Given the description of an element on the screen output the (x, y) to click on. 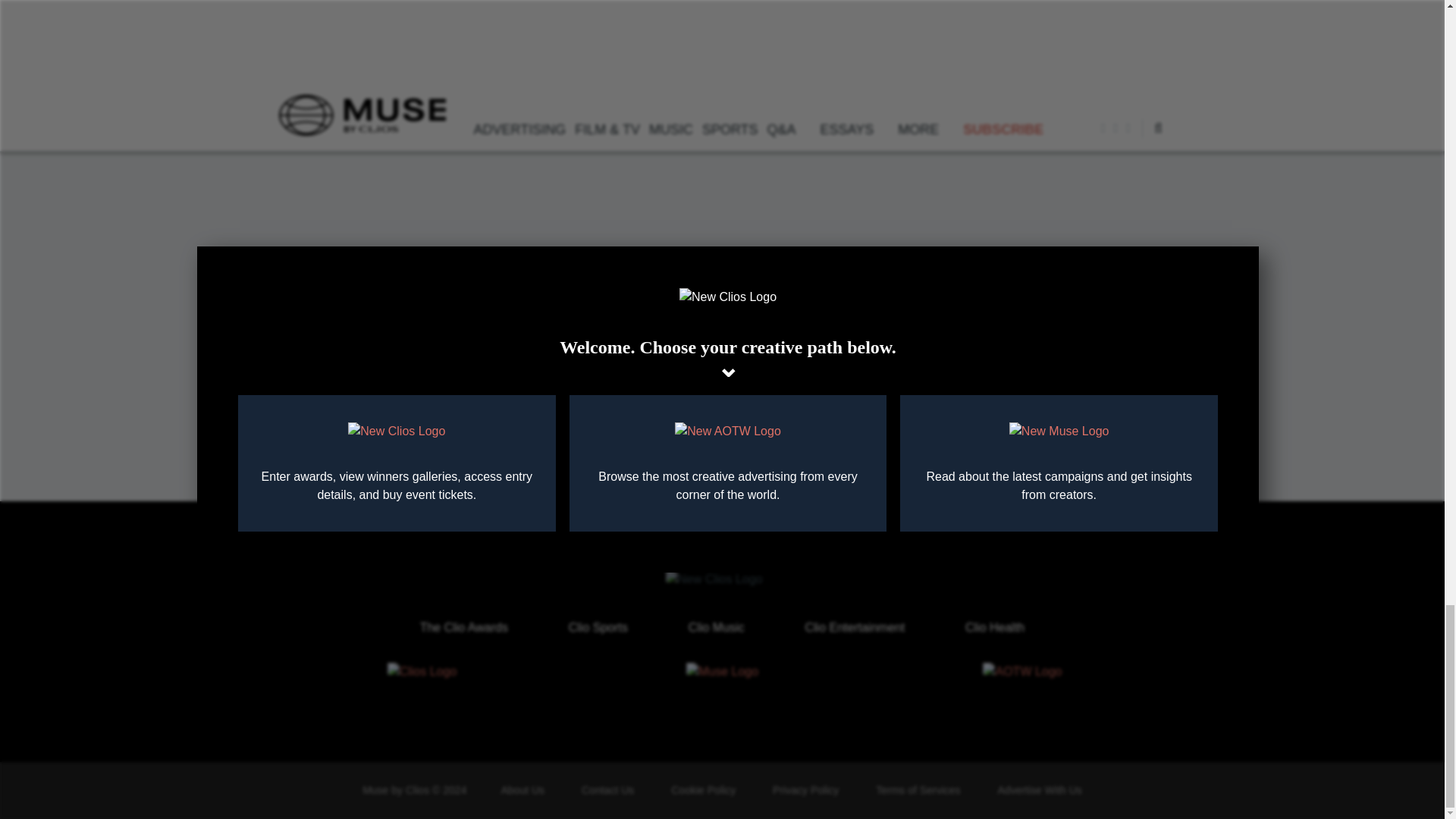
Advertise With Us (1039, 789)
